Given the description of an element on the screen output the (x, y) to click on. 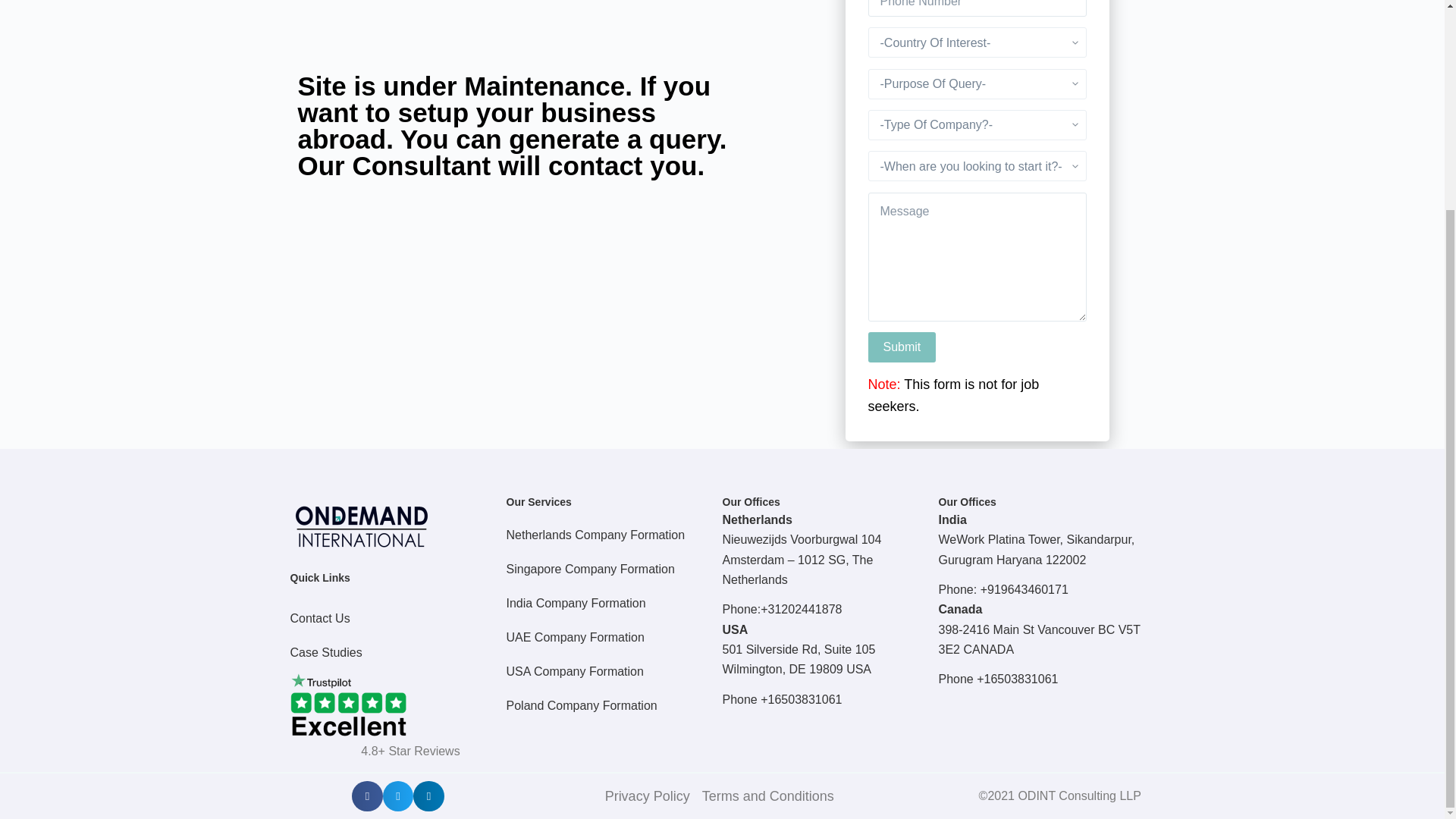
Logo-6-e1691128565500 (360, 524)
Submit (901, 347)
review (347, 710)
